Given the description of an element on the screen output the (x, y) to click on. 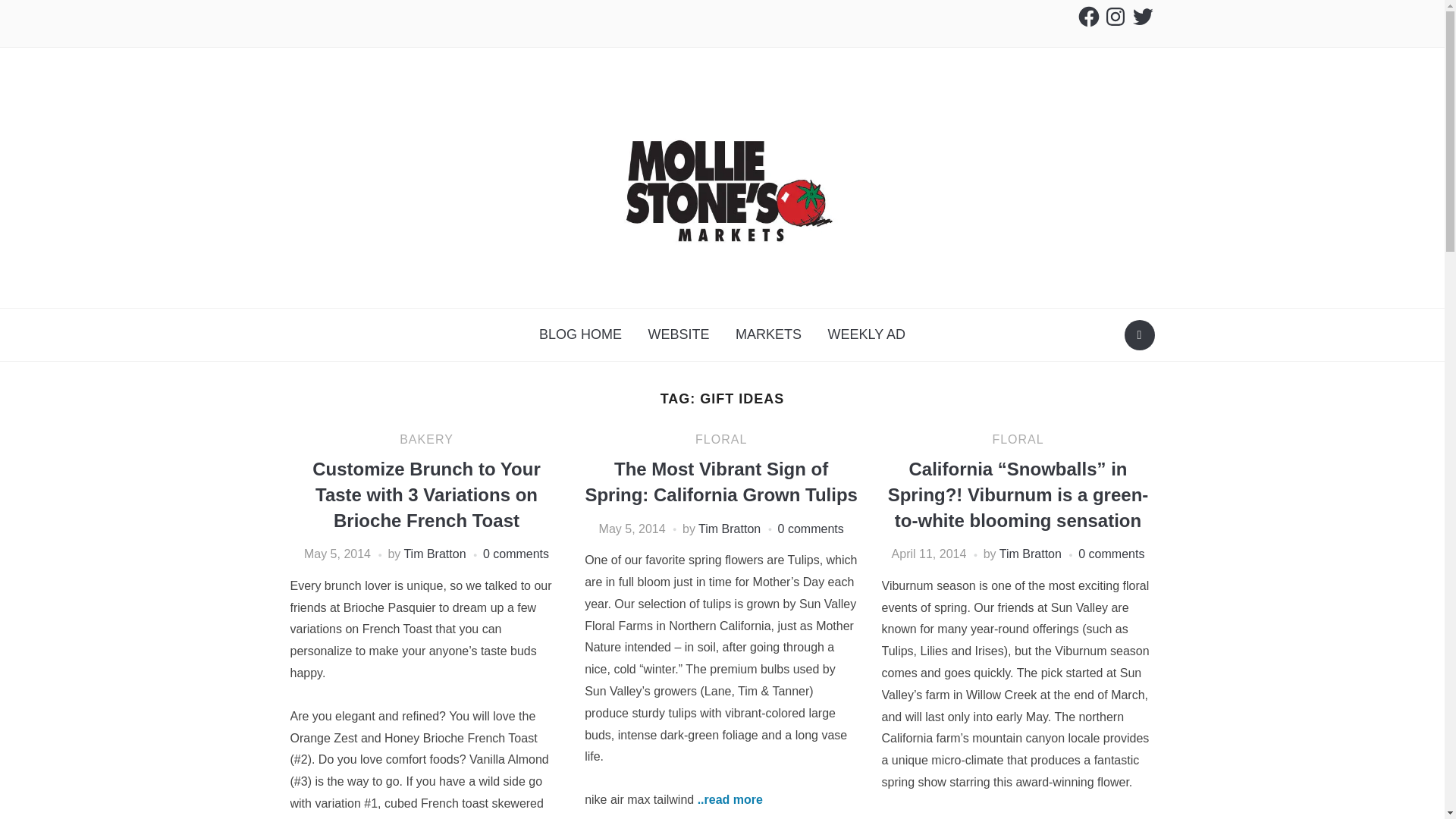
The Most Vibrant Sign of Spring: California Grown Tulips (721, 481)
Facebook (1088, 16)
Search (1139, 335)
..read more (729, 799)
FLORAL (1017, 439)
Instagram (1114, 16)
Twitter (1141, 16)
WEEKLY AD (866, 334)
FLORAL (720, 439)
Tim Bratton (434, 553)
Posts by Tim Bratton (1029, 553)
Tim Bratton (729, 528)
Posts by Tim Bratton (729, 528)
0 comments (810, 528)
